Given the description of an element on the screen output the (x, y) to click on. 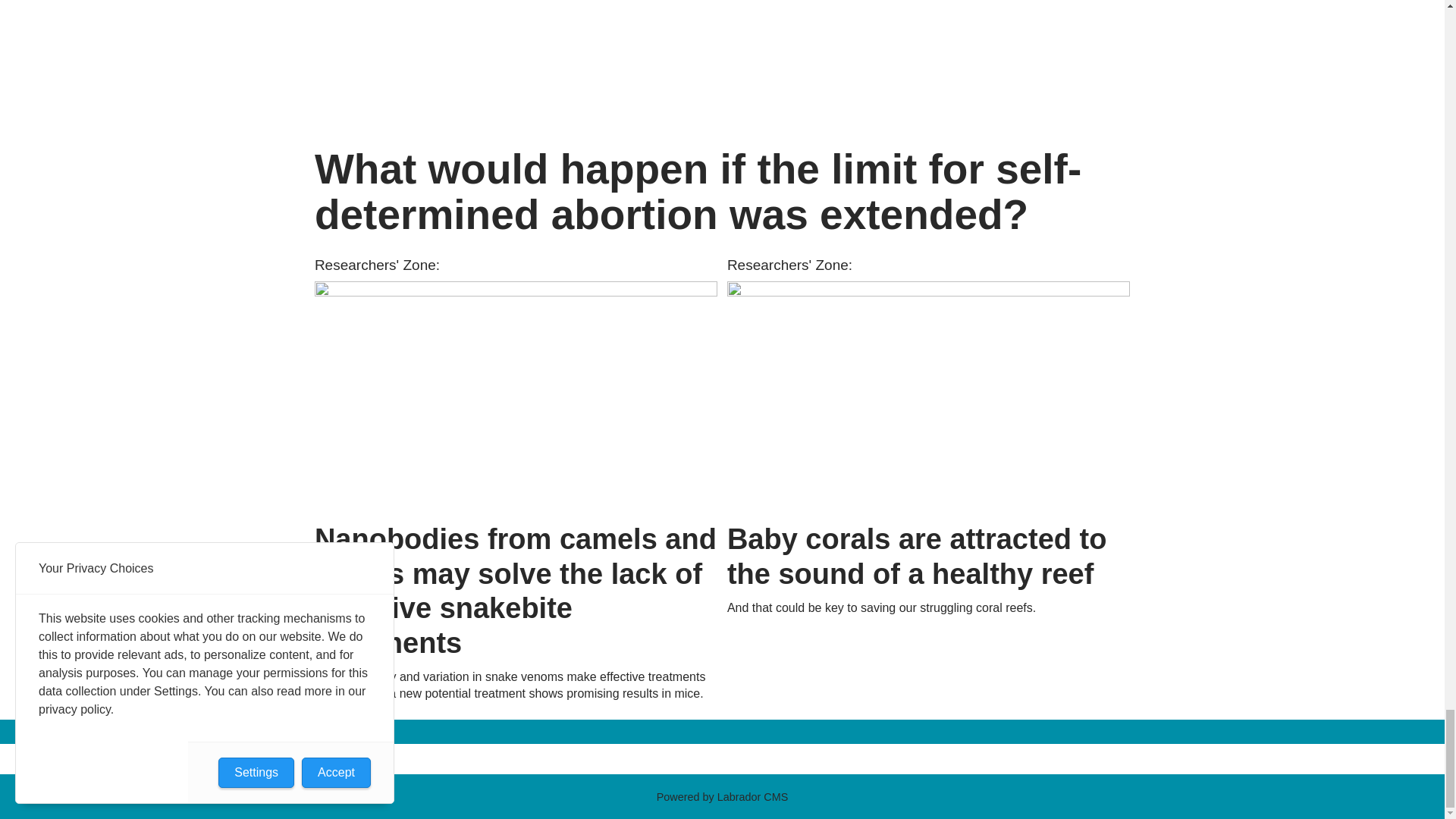
Baby corals are attracted to the sound of a healthy reef (927, 396)
